Given the description of an element on the screen output the (x, y) to click on. 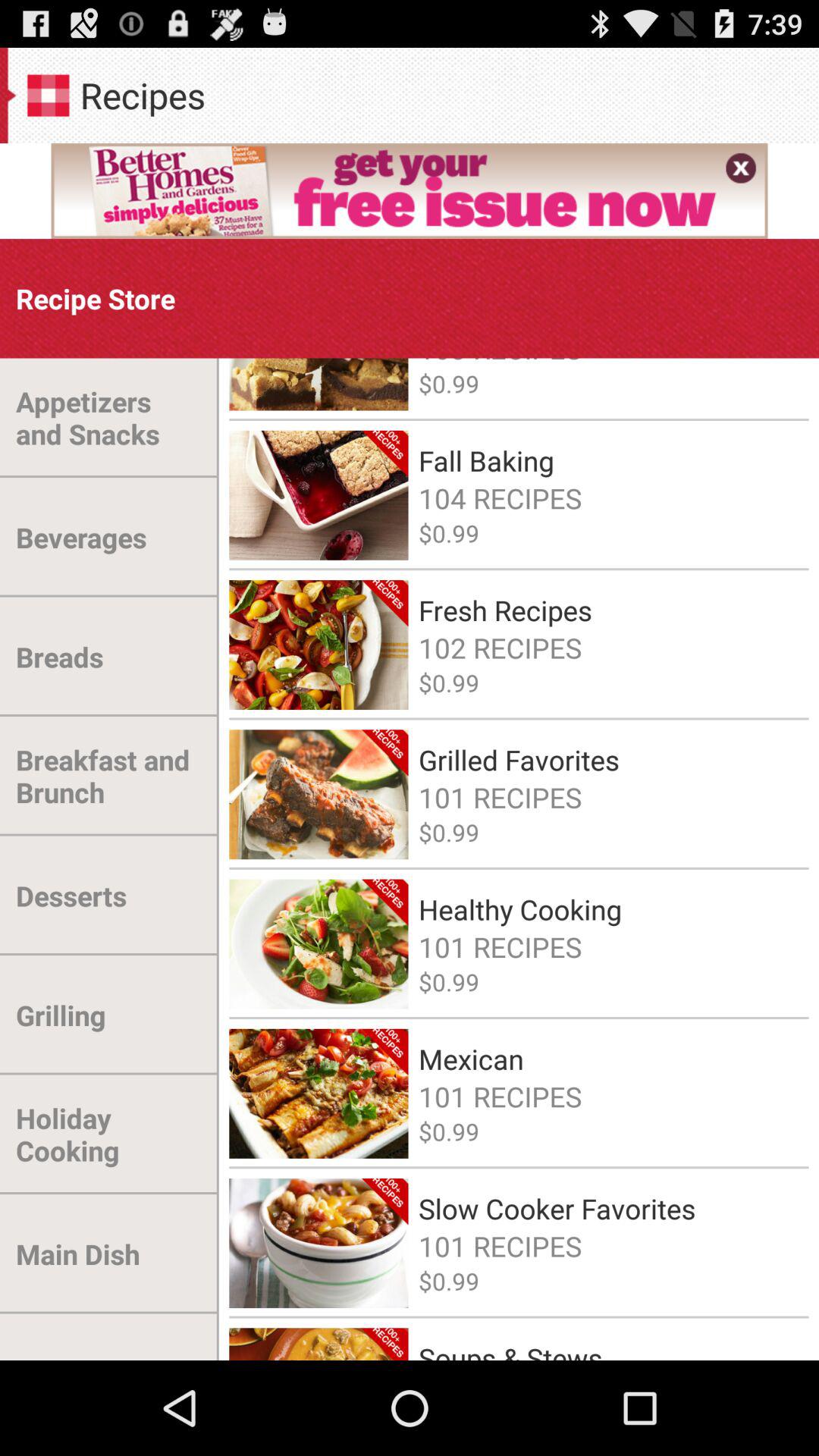
open the breads (59, 656)
